Given the description of an element on the screen output the (x, y) to click on. 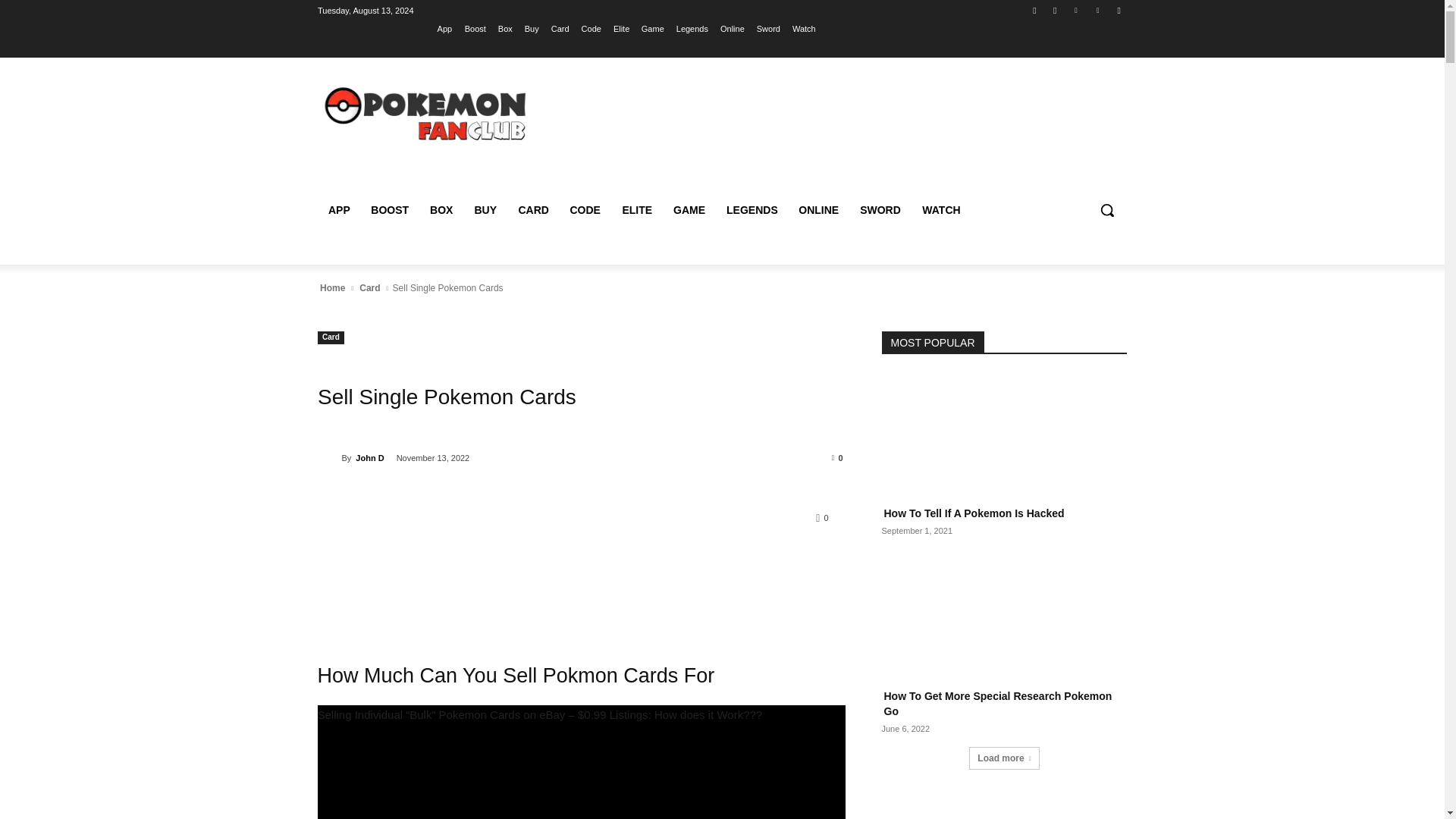
Vimeo (1097, 9)
Legends (692, 28)
John D (328, 458)
Facebook (1034, 9)
Boost (475, 28)
Youtube (1117, 9)
Online (732, 28)
Watch (803, 28)
Code (590, 28)
View all posts in Card (368, 287)
